Given the description of an element on the screen output the (x, y) to click on. 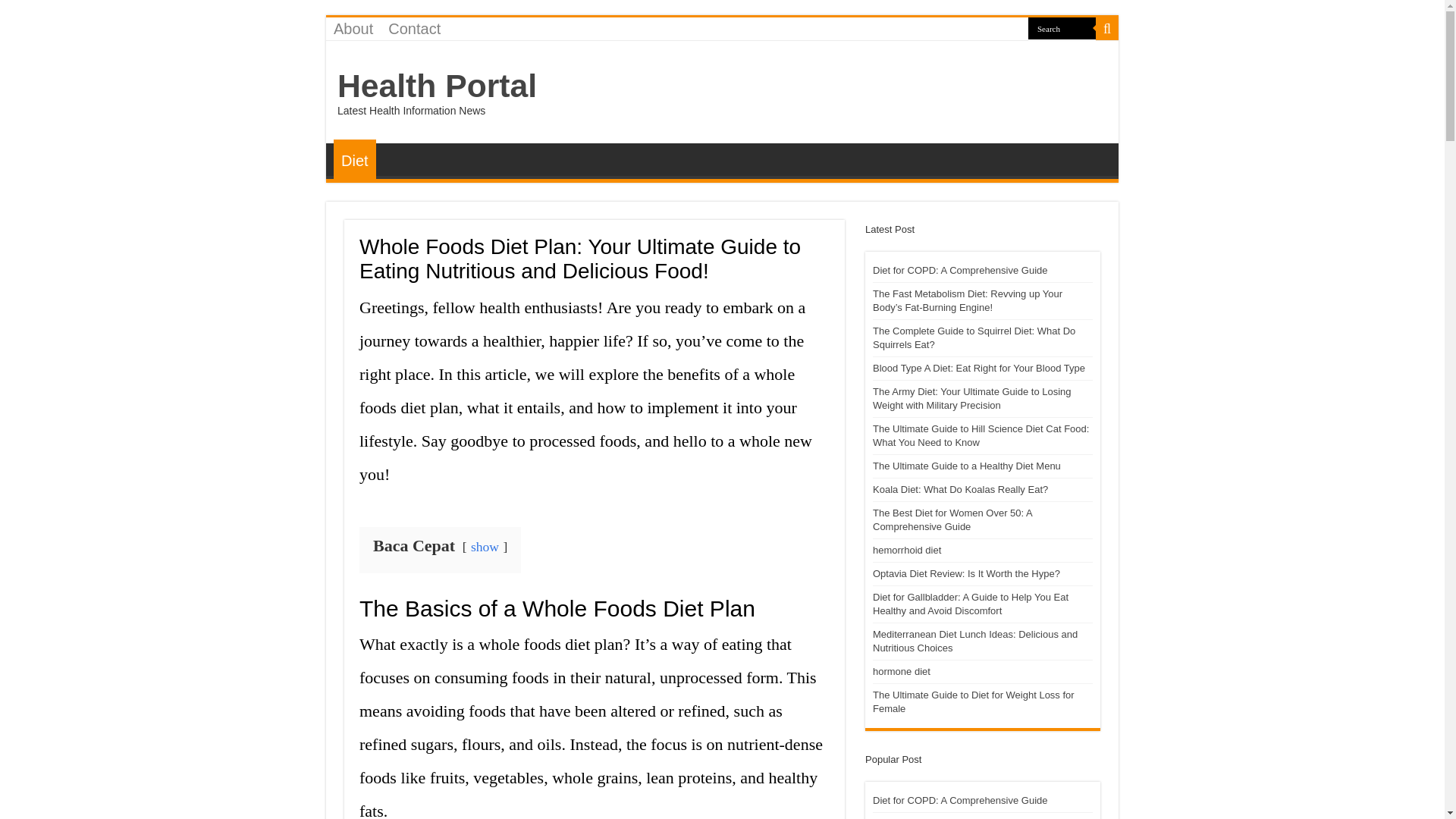
Search (1061, 28)
Search (1061, 28)
The Best Diet for Women Over 50: A Comprehensive Guide (952, 519)
hemorrhoid diet (906, 550)
show (484, 546)
Search (1107, 28)
About (353, 28)
Diet for COPD: A Comprehensive Guide (960, 799)
